Given the description of an element on the screen output the (x, y) to click on. 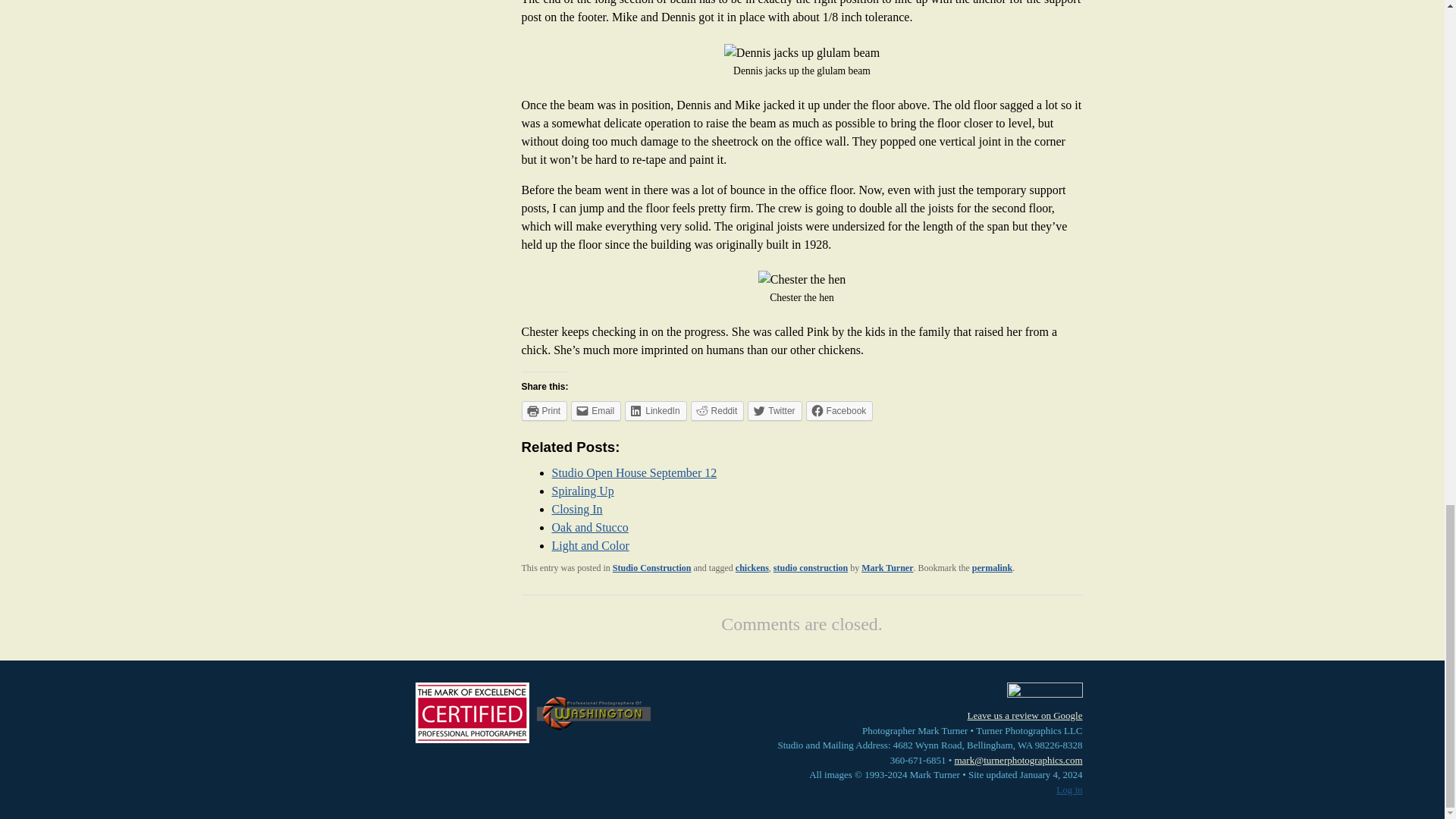
Click to share on Facebook (839, 410)
Click to share on Twitter (775, 410)
Studio Open House September 12 (634, 472)
Facebook (839, 410)
Closing In (576, 508)
permalink (991, 567)
Reddit (717, 410)
Print (544, 410)
Click to email a link to a friend (595, 410)
Spiraling Up (582, 490)
